Given the description of an element on the screen output the (x, y) to click on. 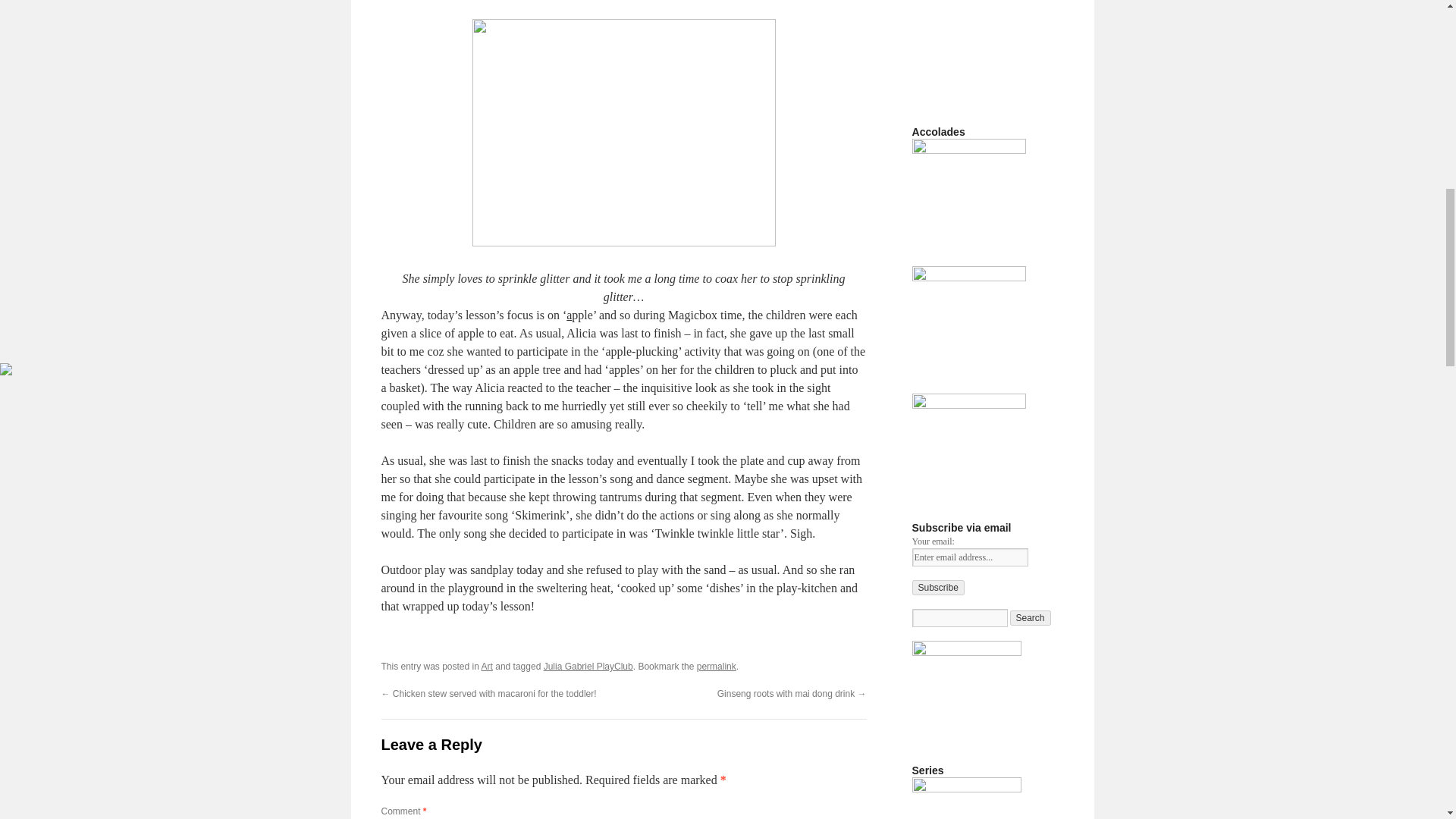
Enter email address... (969, 556)
Search (1030, 617)
Subscribe (937, 587)
Subscribe (937, 587)
Art (487, 665)
Search (1030, 617)
Julia Gabriel PlayClub (588, 665)
permalink (716, 665)
